Given the description of an element on the screen output the (x, y) to click on. 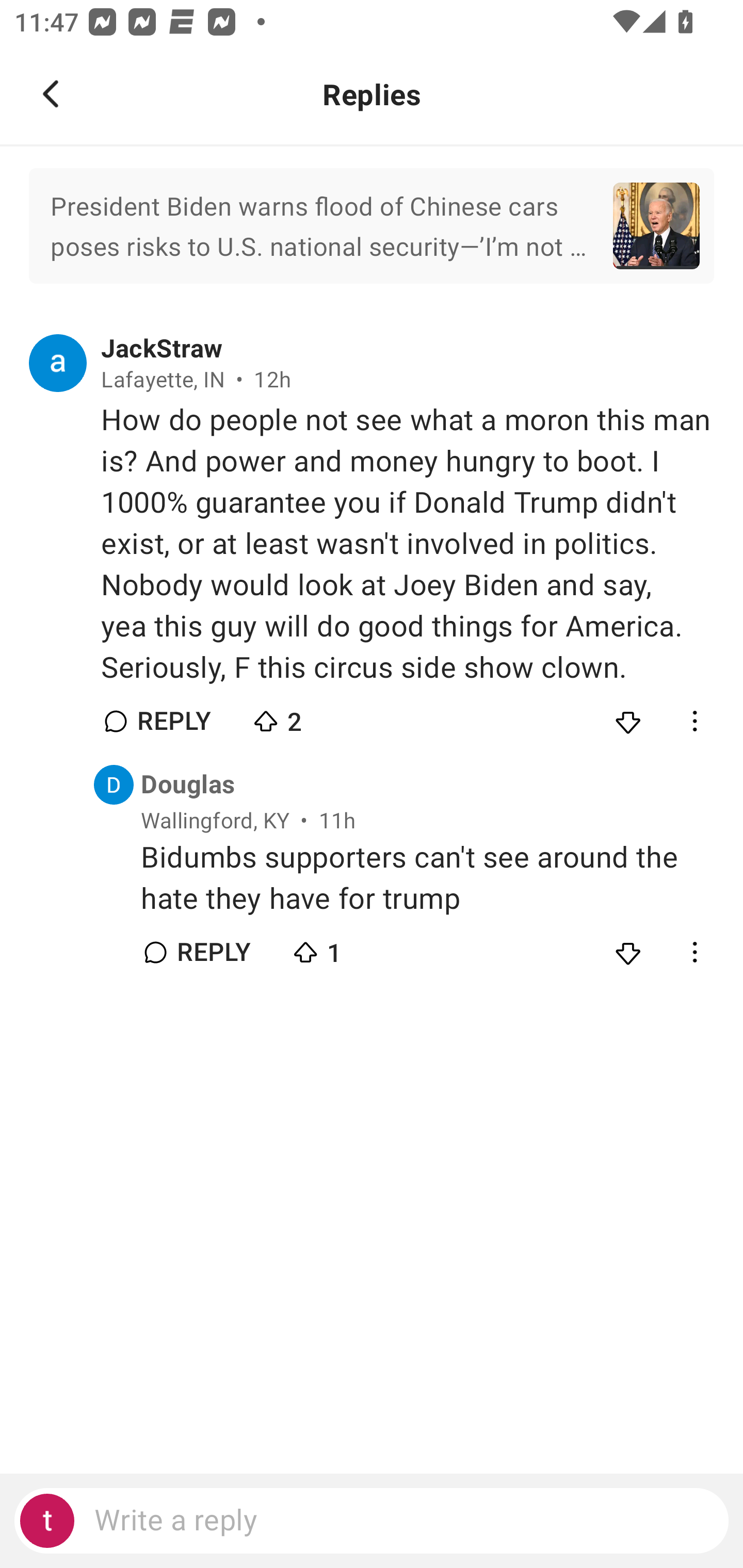
Navigate up (50, 93)
JackStraw (161, 348)
2 (320, 717)
REPLY (173, 721)
Douglas (188, 784)
1 (360, 947)
REPLY (213, 952)
Write a reply (371, 1520)
